Given the description of an element on the screen output the (x, y) to click on. 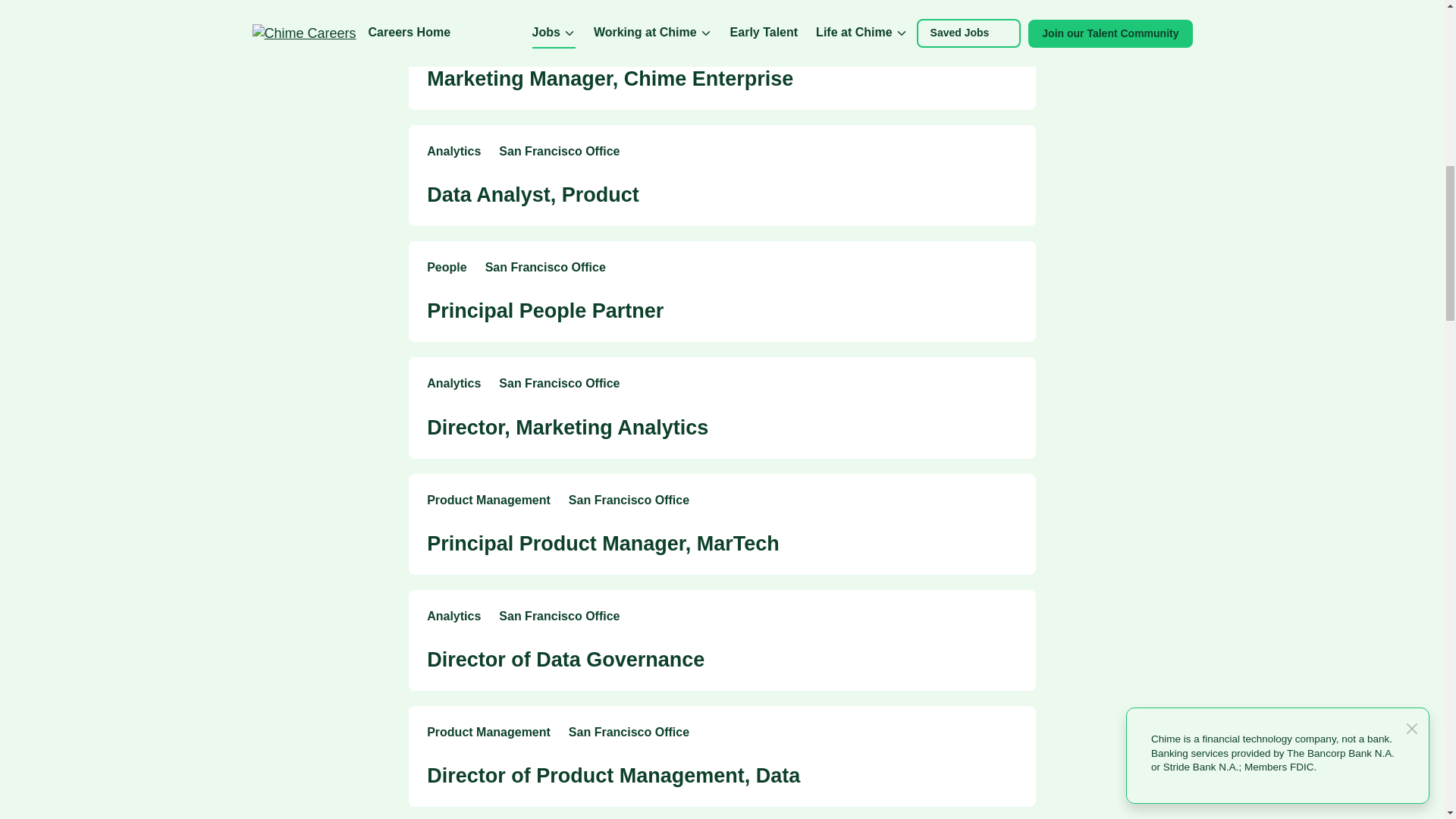
Principal People Partner (544, 310)
Save (1009, 36)
Director, Marketing Analytics (566, 427)
Save (1009, 384)
Marketing Manager, Chime Enterprise (609, 78)
Save (1009, 152)
Save (1009, 617)
Save (1009, 617)
Director of Product Management, Data (612, 775)
Save (1009, 268)
